Given the description of an element on the screen output the (x, y) to click on. 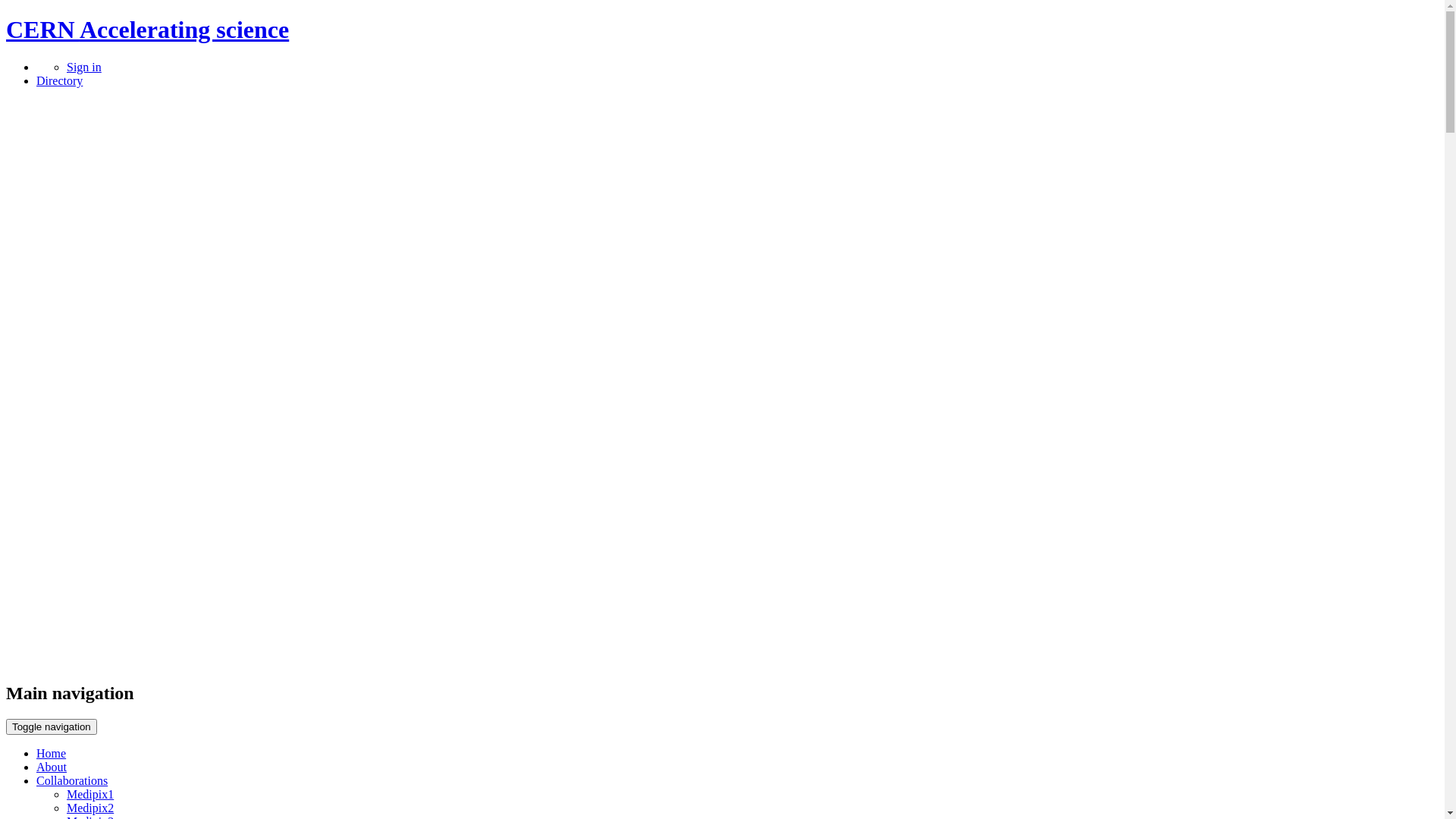
Skip to main content Element type: text (6, 15)
Home Element type: hover (716, 660)
Medipix1 Element type: text (89, 793)
CERN Accelerating science Element type: text (147, 29)
Medipix2 Element type: text (89, 807)
Toggle navigation Element type: text (51, 726)
About Element type: text (51, 766)
Home Element type: text (50, 752)
Directory Element type: text (59, 80)
Sign in Element type: text (83, 66)
Collaborations Element type: text (71, 780)
